Given the description of an element on the screen output the (x, y) to click on. 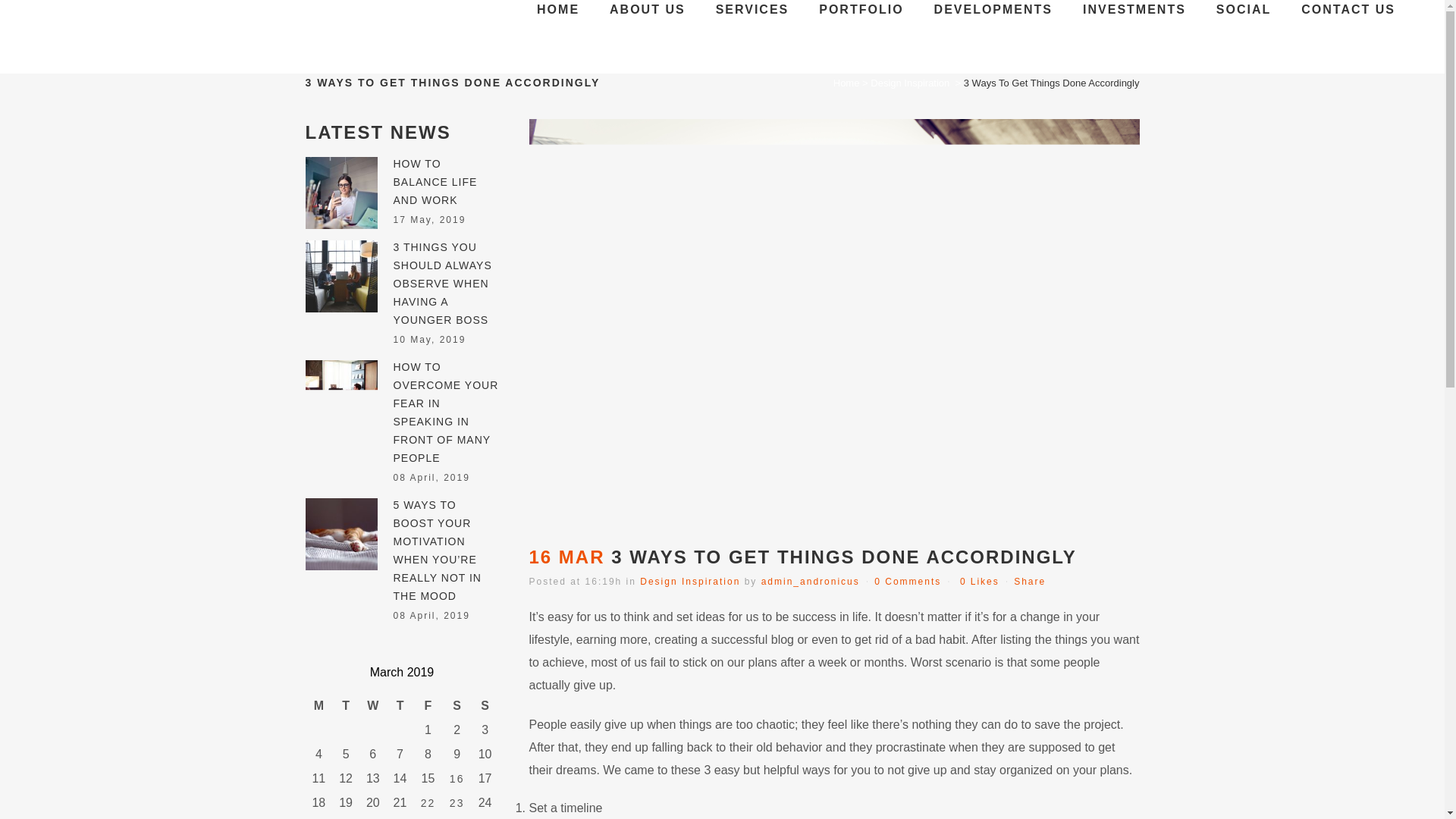
Sunday (485, 705)
Design Inspiration (689, 581)
Design Inspiration (909, 82)
23 (456, 802)
Monday (317, 705)
16 (456, 778)
Saturday (456, 705)
INVESTMENTS (1134, 9)
